Given the description of an element on the screen output the (x, y) to click on. 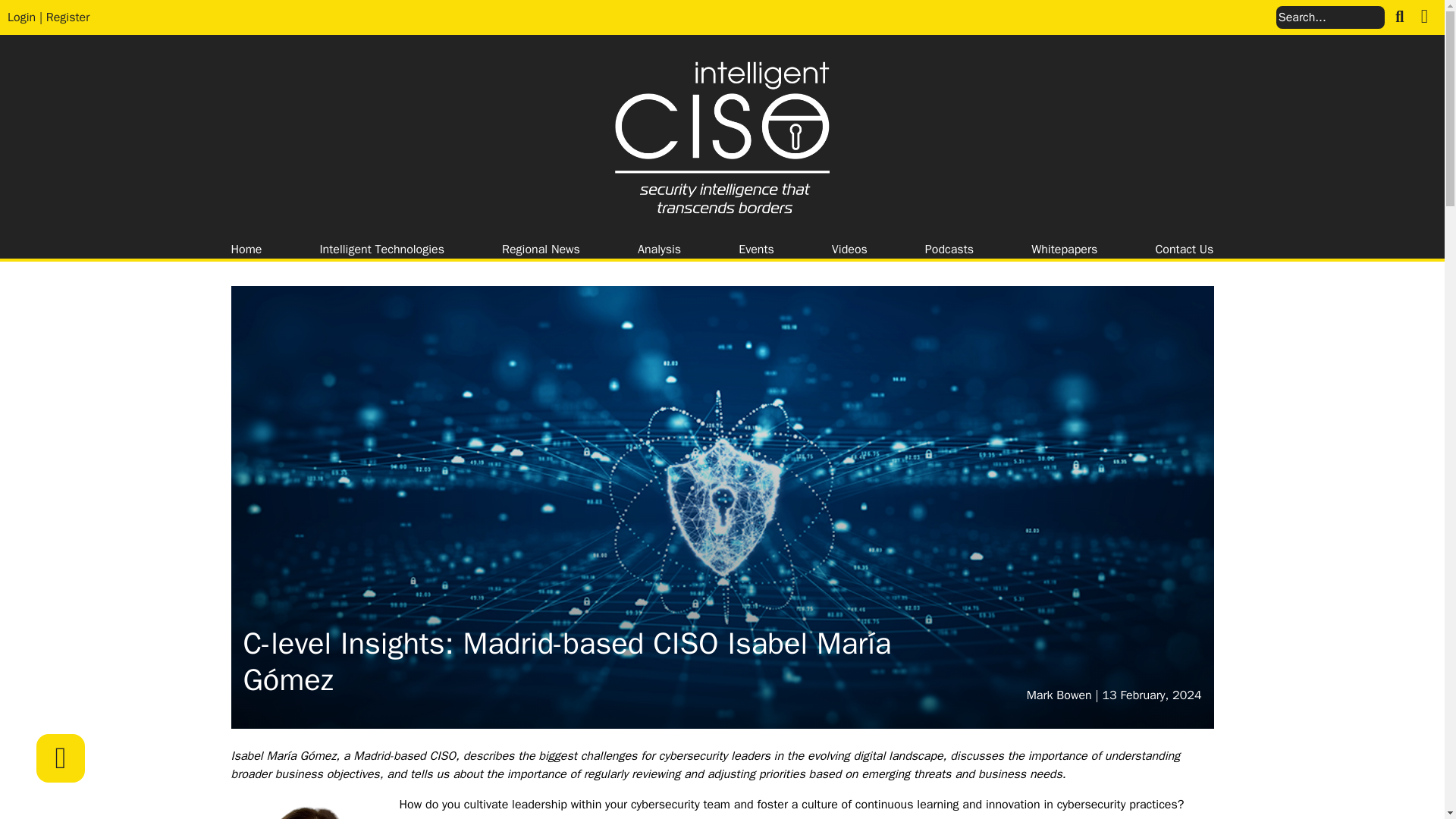
Login (20, 17)
Register (68, 17)
Chatbot (1383, 758)
